Given the description of an element on the screen output the (x, y) to click on. 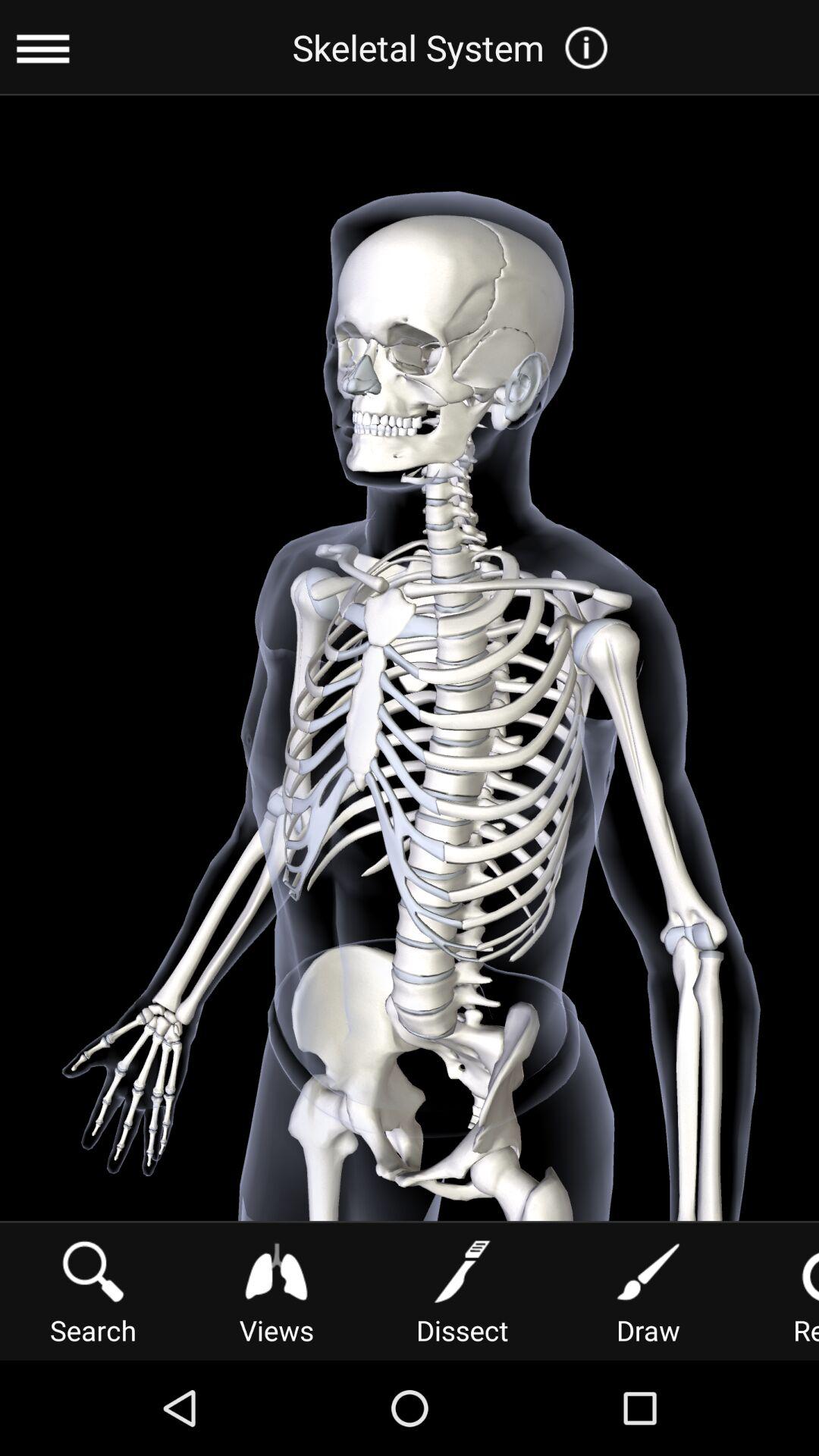
tap the button to the right of the draw (783, 1290)
